Given the description of an element on the screen output the (x, y) to click on. 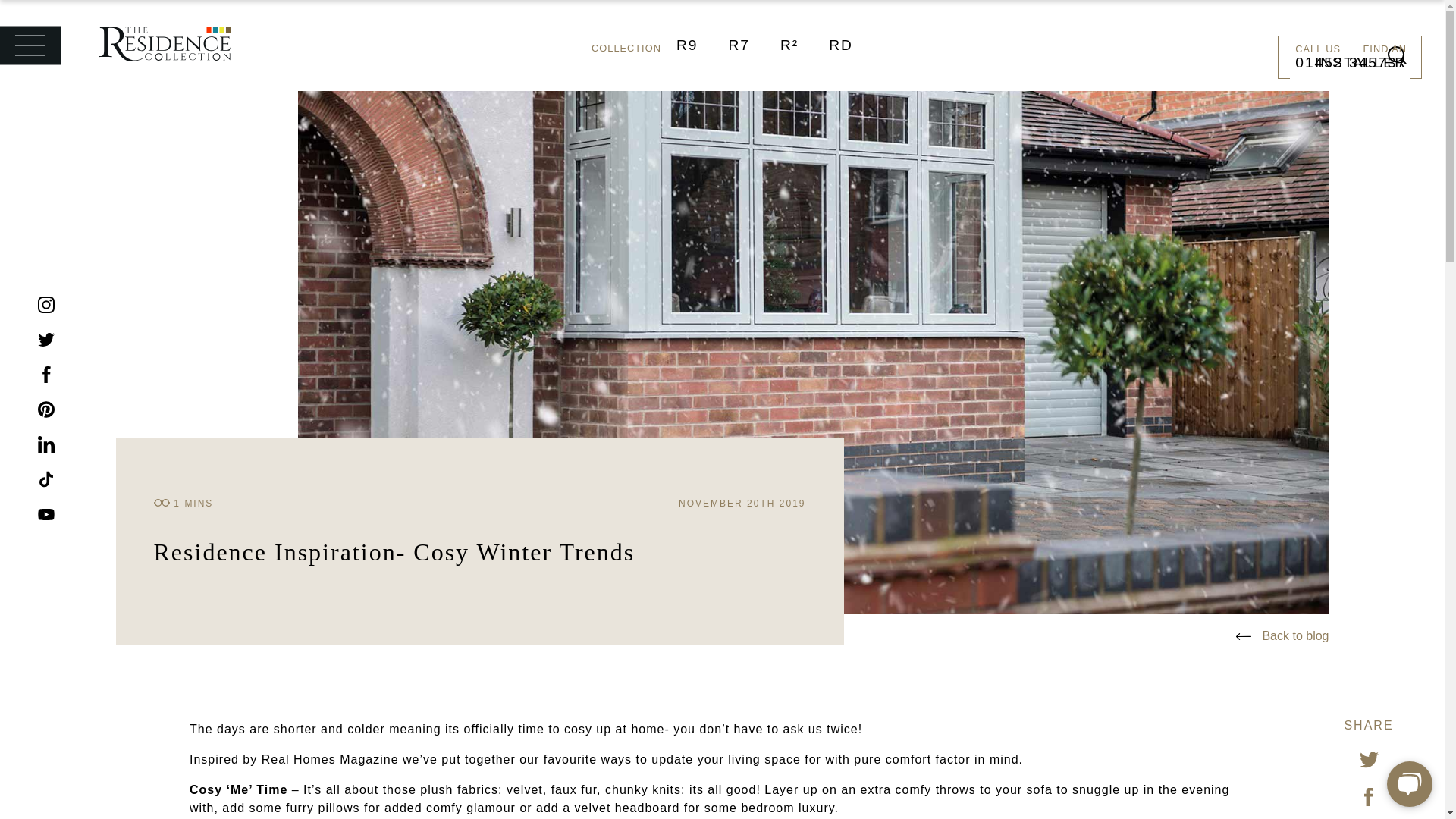
COLLECTION (626, 48)
01452 345737 (1350, 62)
R9 (687, 44)
R7 (738, 44)
RD (840, 44)
Share on Facebook (1367, 796)
Tweet this (1367, 760)
